Given the description of an element on the screen output the (x, y) to click on. 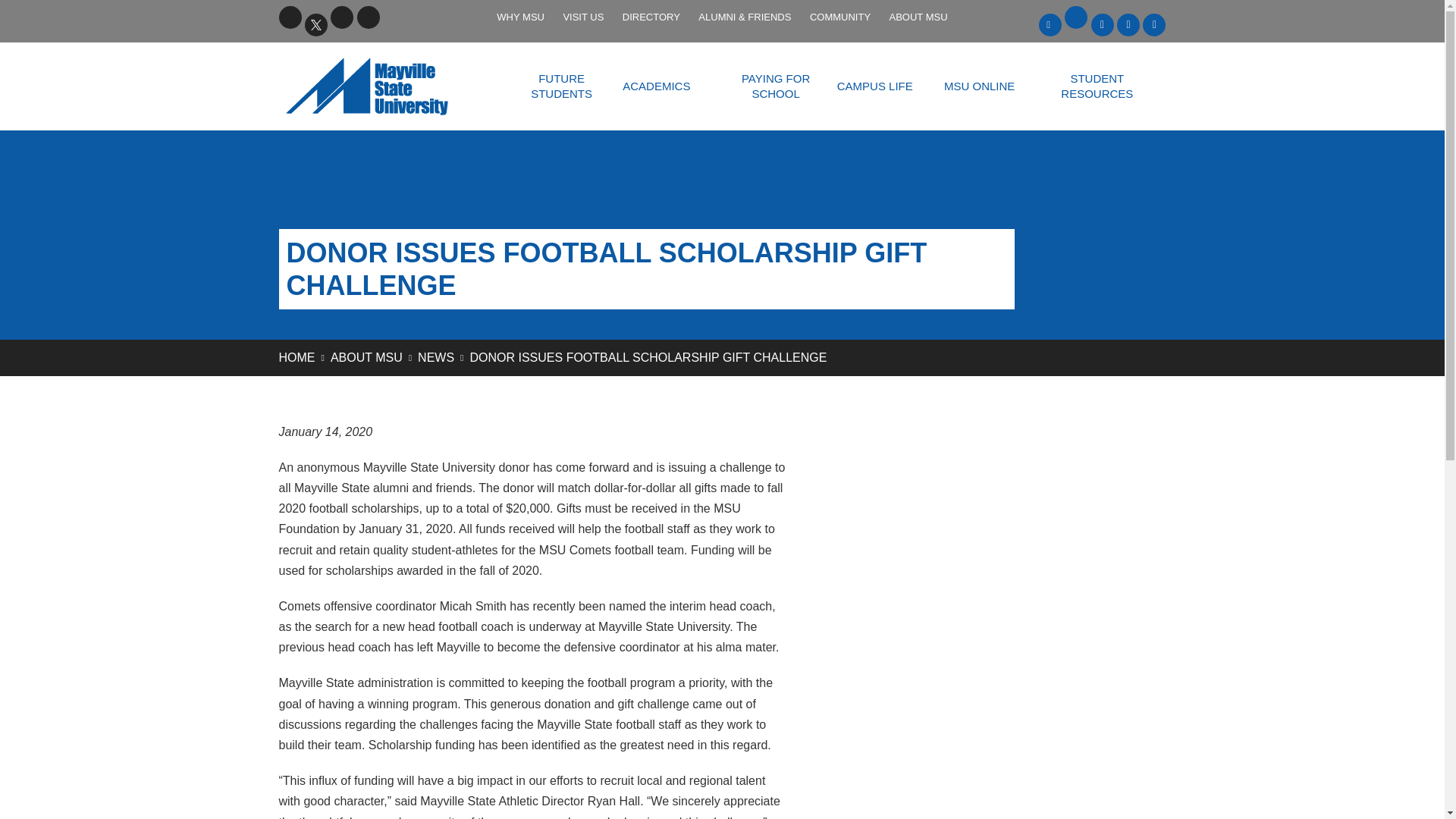
Email (1075, 16)
Search (394, 16)
Starfish (1154, 24)
Home (297, 357)
News (435, 357)
VISIT US (582, 16)
YouTube (341, 16)
Donor issues football scholarship gift challenge (648, 357)
Facebook (290, 16)
About MSU (366, 357)
Instagram (368, 16)
Mayville State University :: Mayville, ND (386, 86)
ACADEMICS (655, 86)
DIRECTORY (650, 16)
Sharepoint (1101, 24)
